Given the description of an element on the screen output the (x, y) to click on. 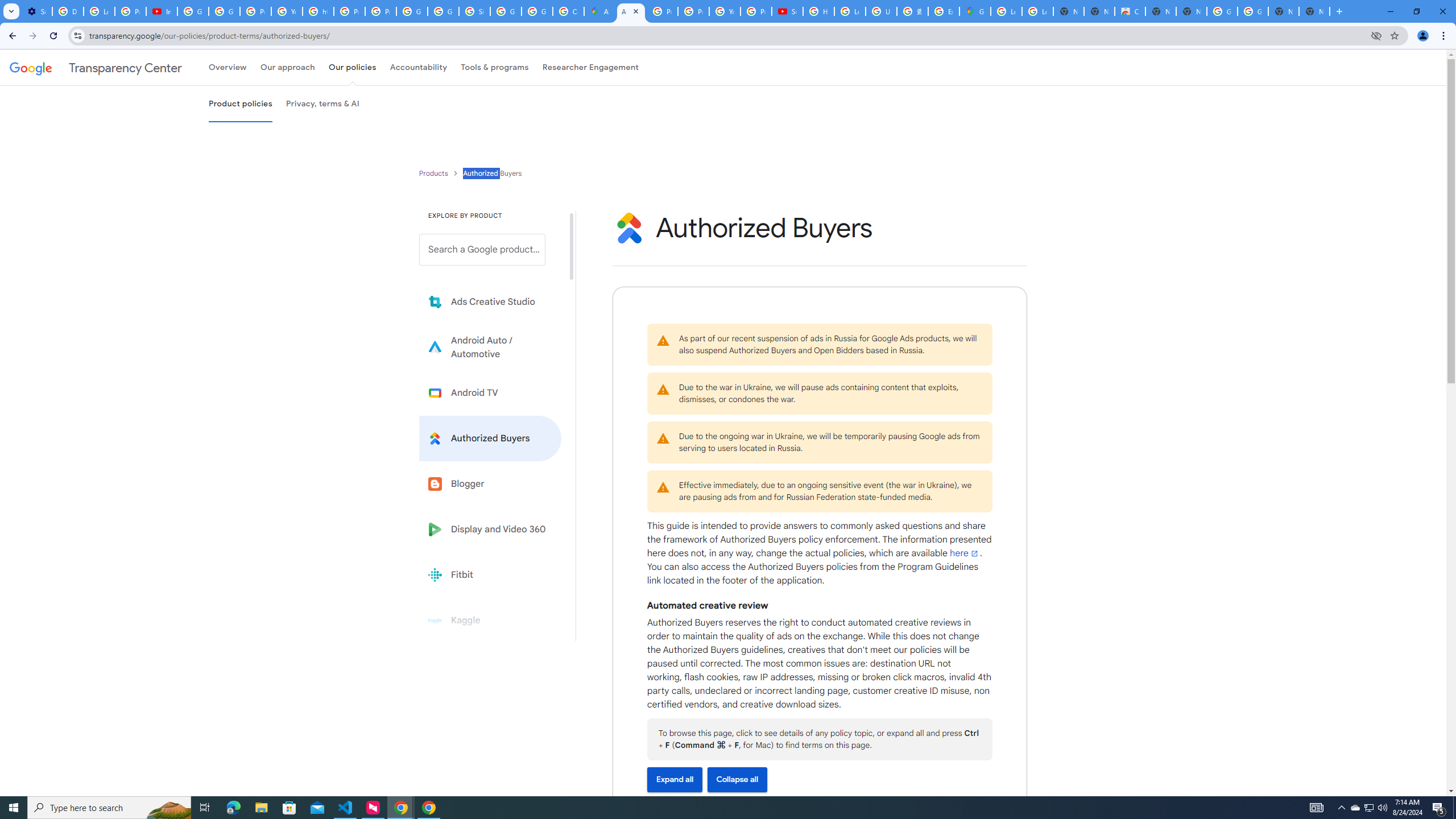
Collapse all (737, 779)
Google Maps (974, 11)
Learn more about Authorized Buyers (490, 438)
https://scholar.google.com/ (318, 11)
New Tab (1314, 11)
Privacy Help Center - Policies Help (693, 11)
Learn how to find your photos - Google Photos Help (98, 11)
Learn more about Android Auto (490, 347)
Sign in - Google Accounts (474, 11)
Subscriptions - YouTube (787, 11)
